Given the description of an element on the screen output the (x, y) to click on. 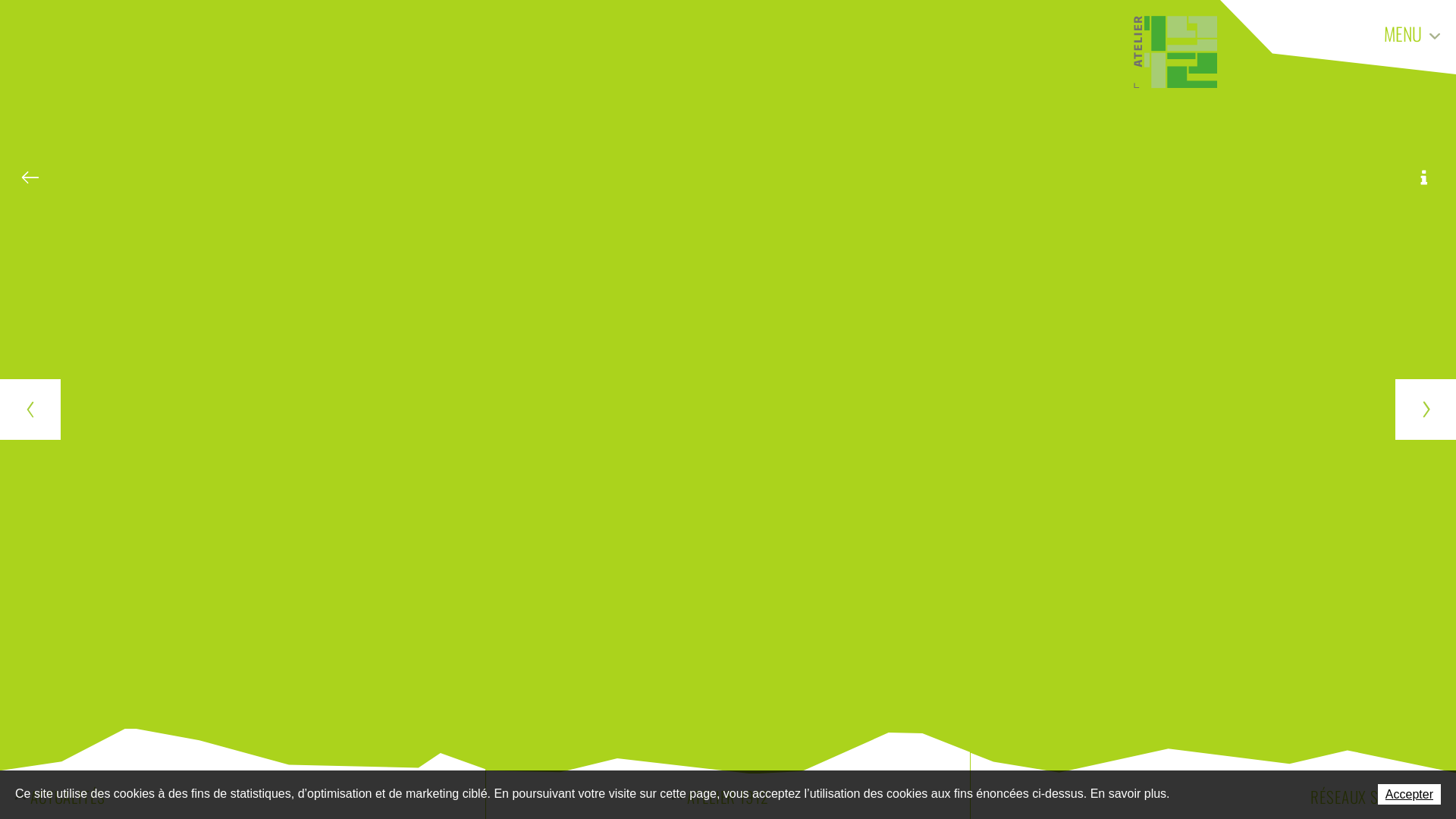
Lire les informations Element type: hover (1424, 177)
Accepter Element type: text (1408, 794)
